Given the description of an element on the screen output the (x, y) to click on. 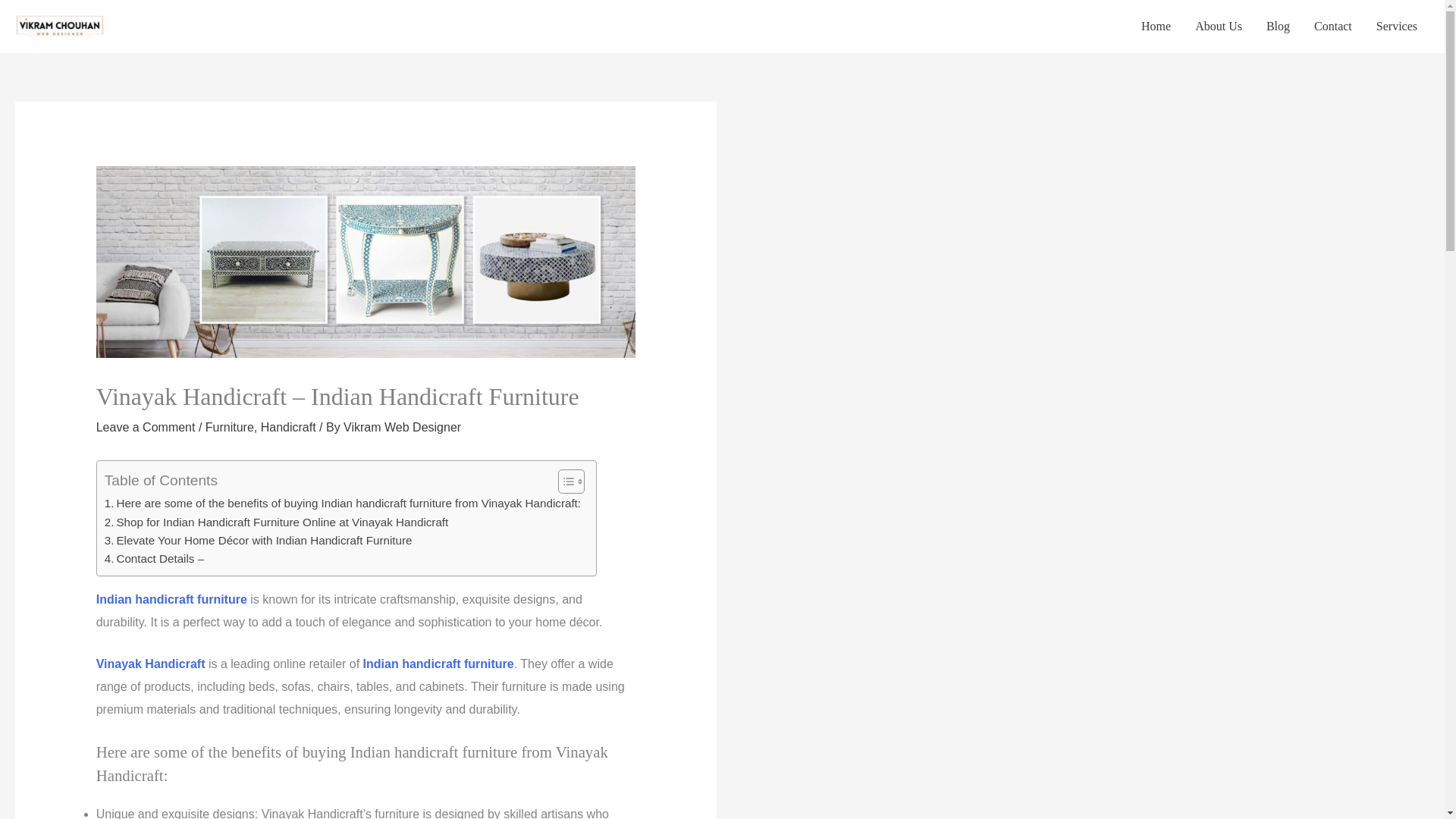
Handicraft (287, 427)
Leave a Comment (145, 427)
Vikram Web Designer (402, 427)
Furniture (229, 427)
View all posts by Vikram Web Designer (402, 427)
Blog (1277, 26)
